Given the description of an element on the screen output the (x, y) to click on. 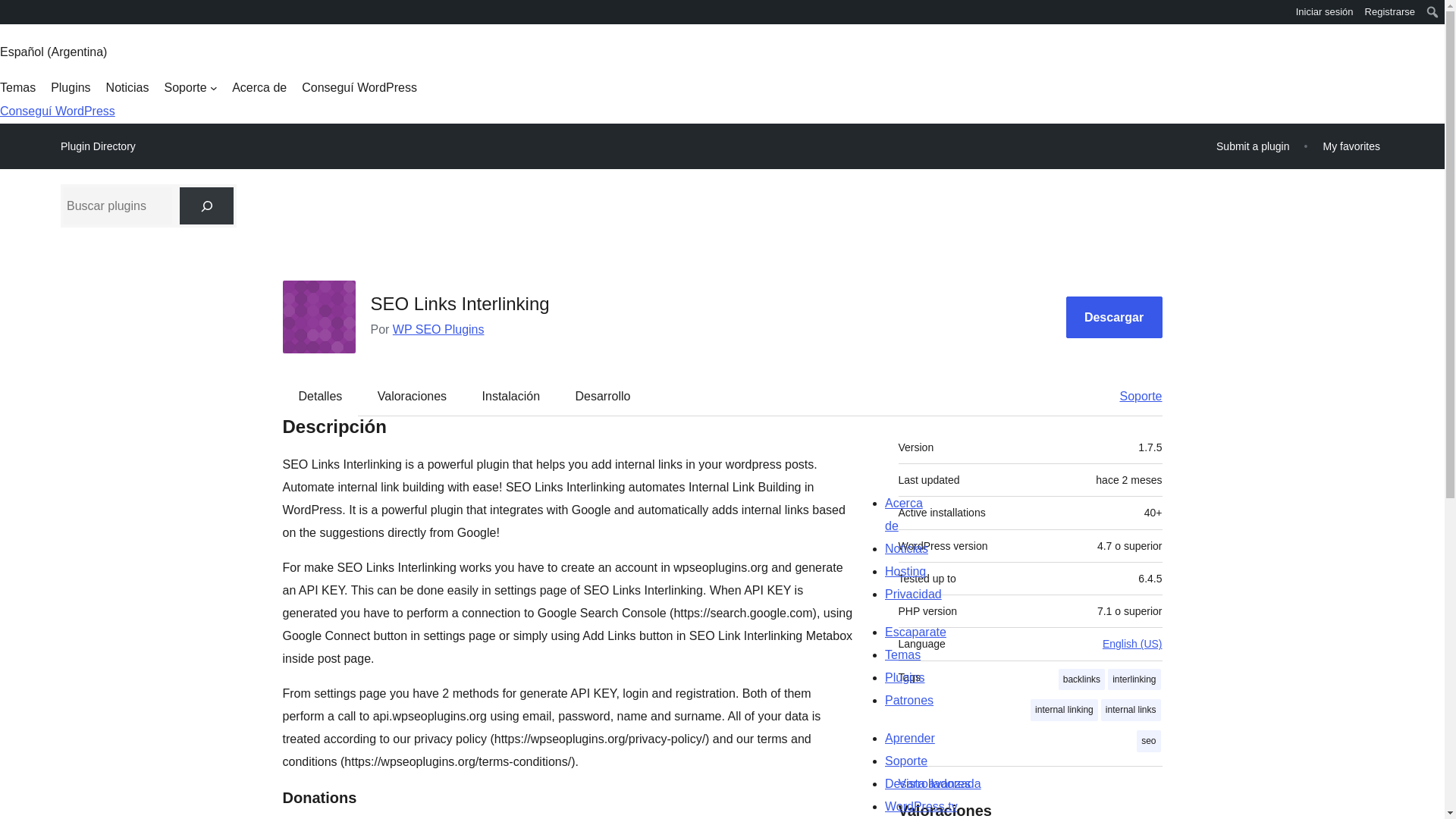
WordPress.org (10, 16)
WordPress.org (10, 10)
Noticias (127, 87)
Soporte (1132, 395)
Plugin Directory (97, 146)
Submit a plugin (1253, 145)
Desarrollo (602, 395)
Descargar (1113, 317)
Valoraciones (411, 395)
Detalles (320, 395)
WP SEO Plugins (438, 328)
My favorites (1351, 145)
Soporte (190, 87)
Plugins (70, 87)
Registrarse (1390, 12)
